Given the description of an element on the screen output the (x, y) to click on. 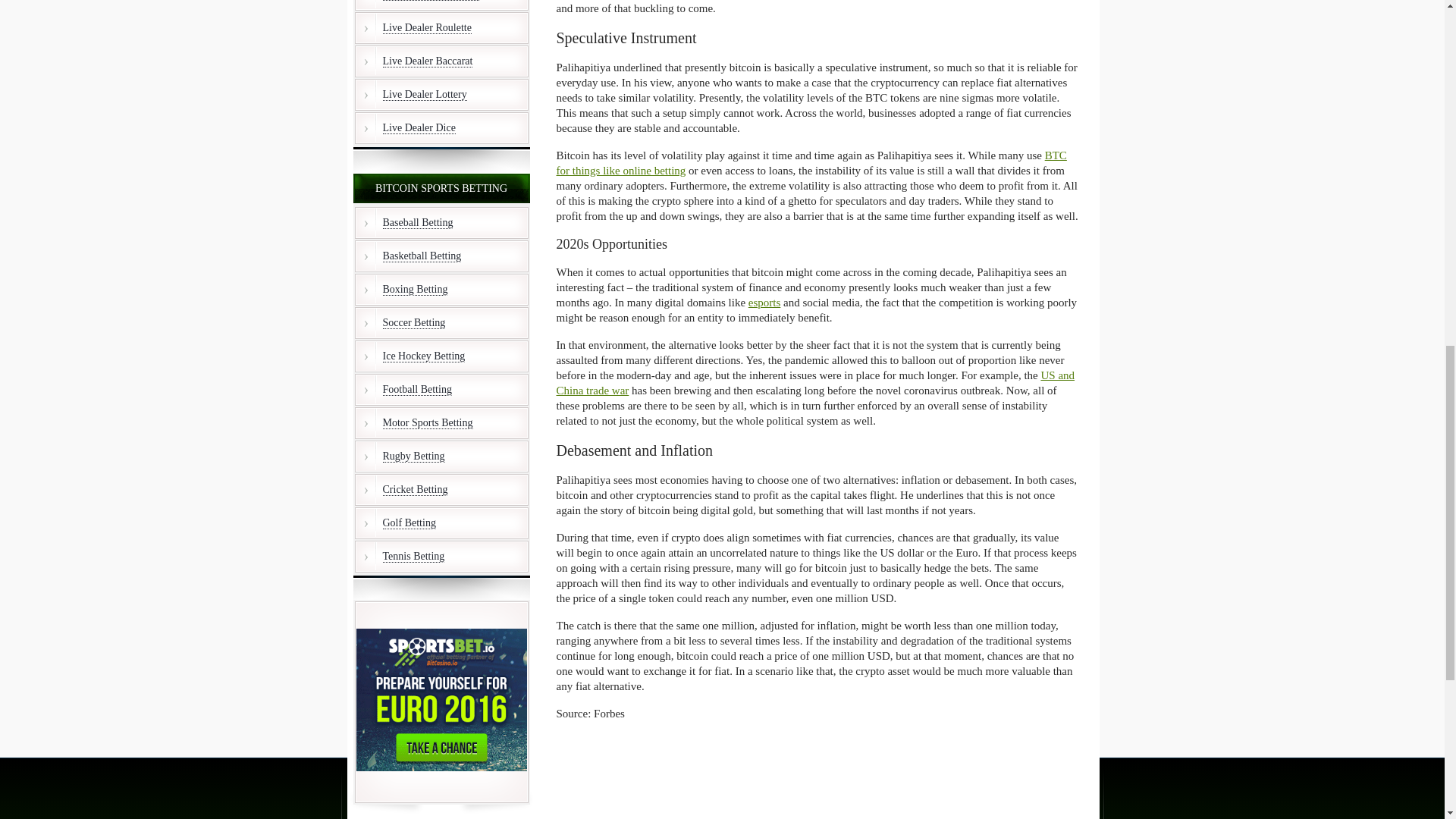
esports (764, 302)
US and China trade war (815, 382)
BTC for things like online betting (811, 162)
